Given the description of an element on the screen output the (x, y) to click on. 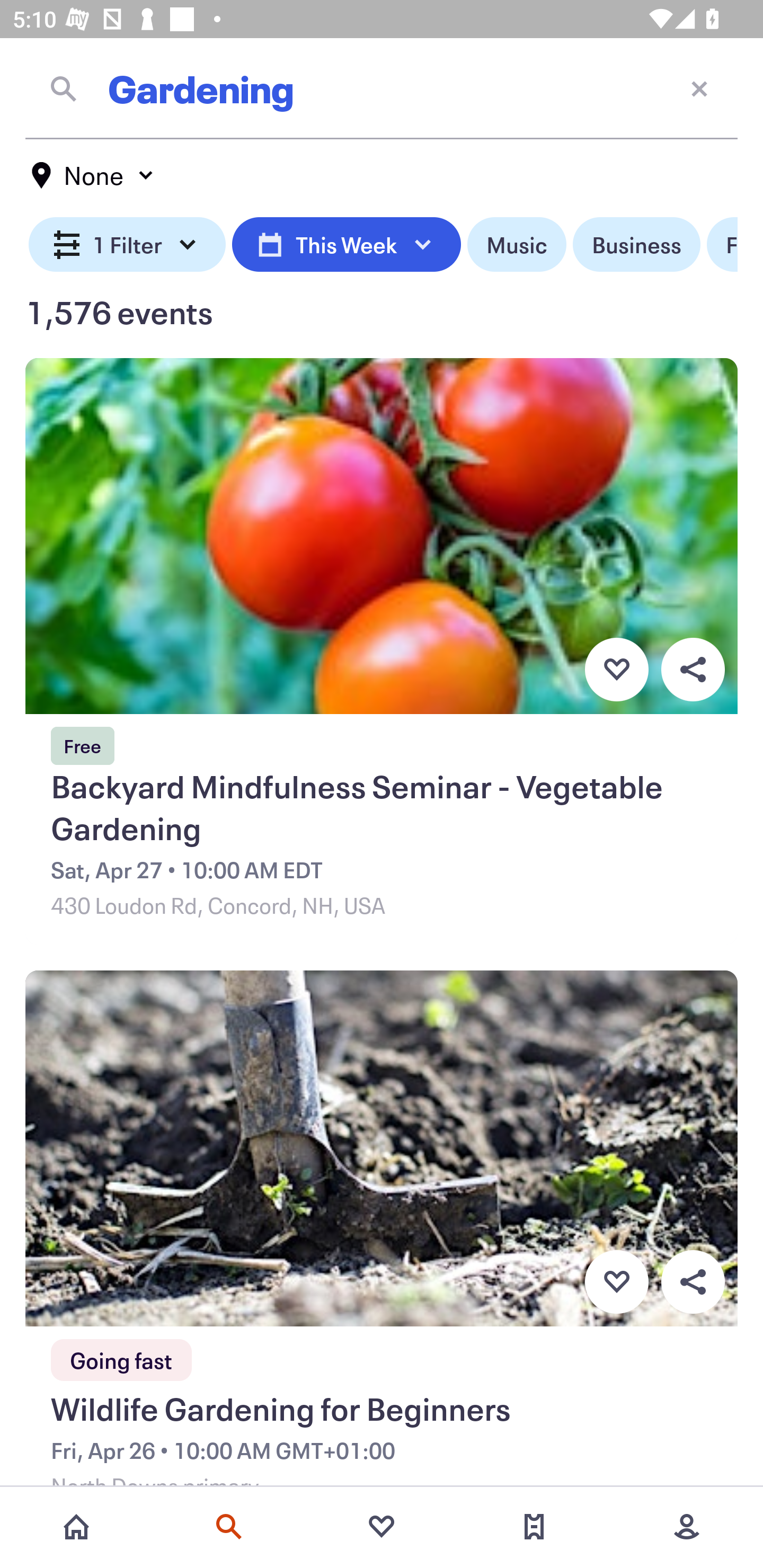
Gardening Close current screen (381, 88)
Close current screen (699, 88)
None (93, 175)
1 Filter (126, 244)
This Week (345, 244)
Music (516, 244)
Business (636, 244)
Favorite button (616, 669)
Overflow menu button (692, 669)
Favorite button (616, 1281)
Overflow menu button (692, 1281)
Home (76, 1526)
Search events (228, 1526)
Favorites (381, 1526)
Tickets (533, 1526)
More (686, 1526)
